Given the description of an element on the screen output the (x, y) to click on. 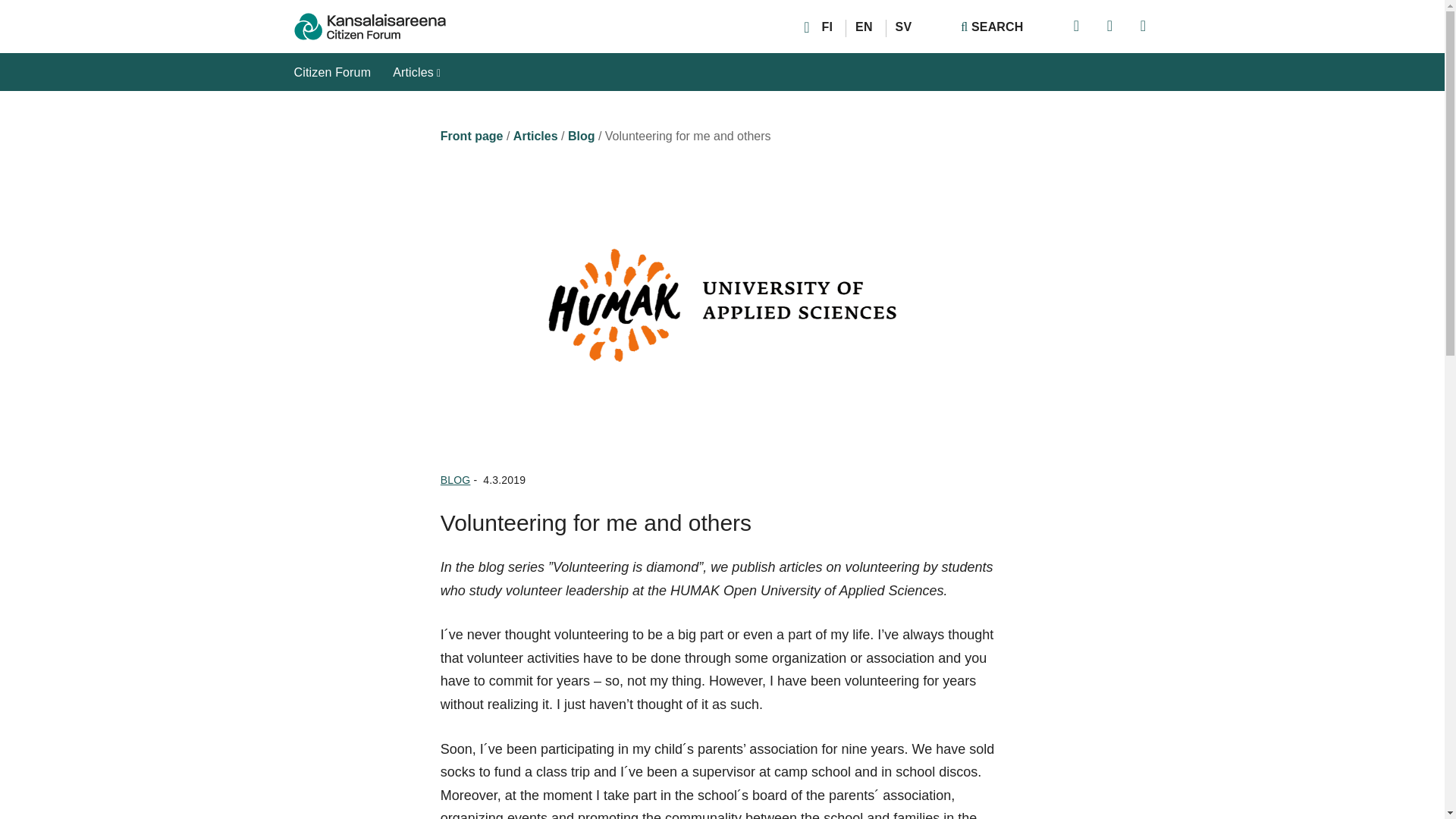
BLOG (455, 480)
EN (864, 27)
SEARCH (991, 27)
Articles (417, 78)
Front page (472, 135)
Open Blog archive (455, 480)
Articles (535, 135)
Citizen Forum (332, 78)
Blog (581, 135)
SV (903, 27)
